Given the description of an element on the screen output the (x, y) to click on. 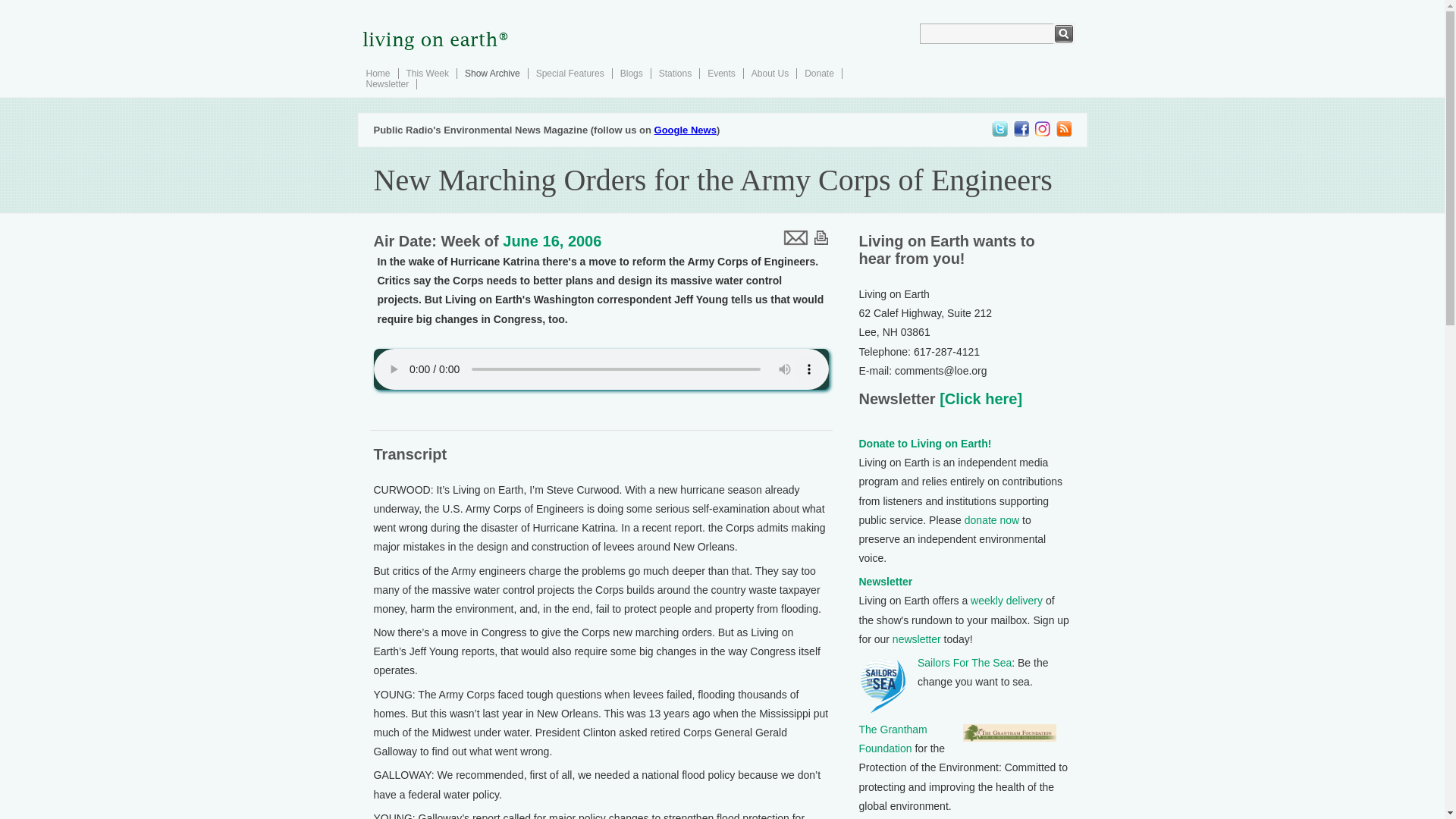
June 16, 2006 (551, 240)
Show Archive (491, 72)
Blogs (631, 72)
Donate to Living on Earth! (925, 443)
Home (377, 72)
Special Features (569, 72)
email (794, 236)
About Us (770, 72)
donate now (991, 520)
Donate (819, 72)
This Week (427, 72)
print (819, 236)
Newsletter (885, 581)
Google News (684, 129)
newsletter (916, 639)
